Given the description of an element on the screen output the (x, y) to click on. 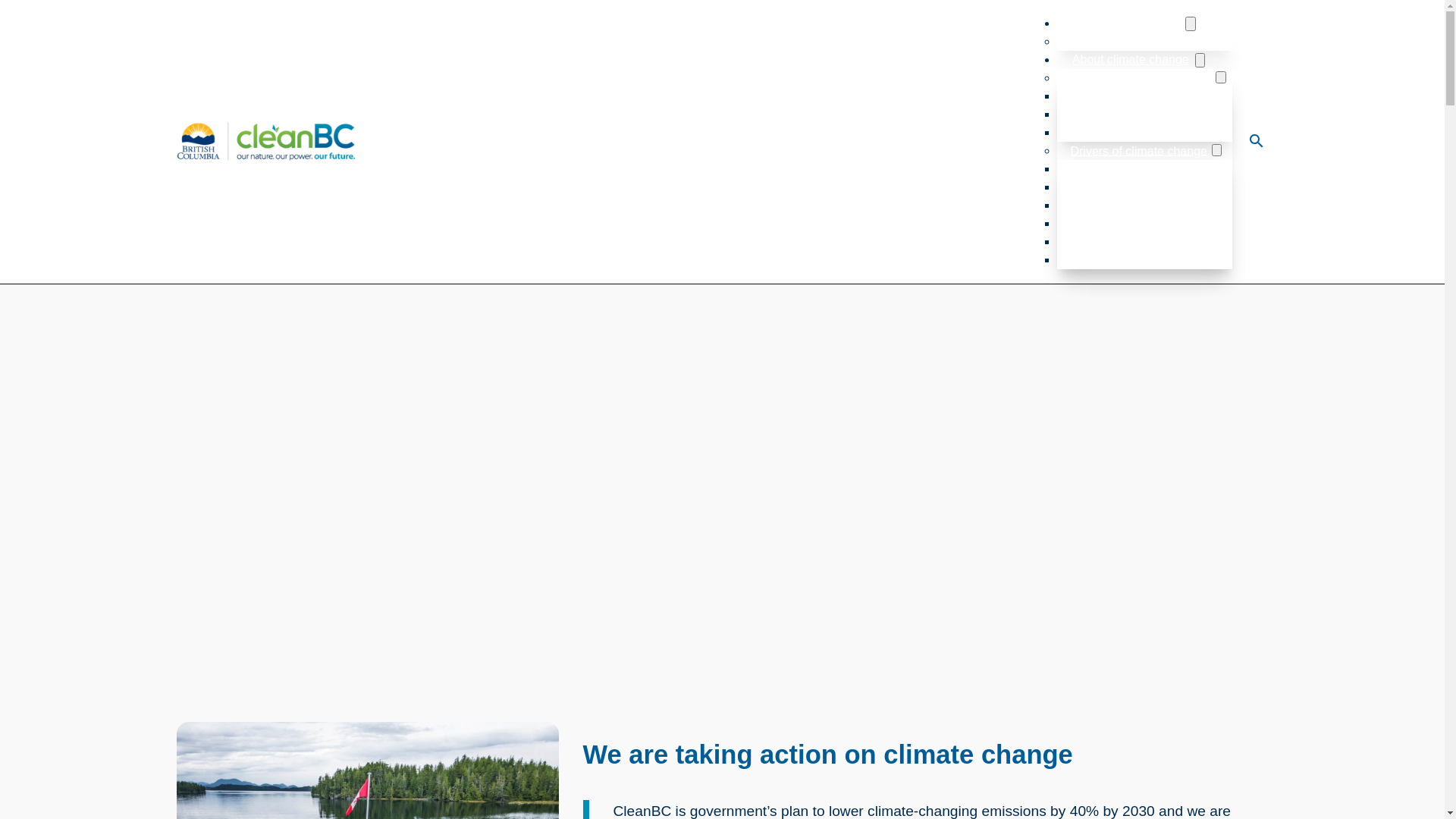
Flooding Element type: text (1092, 114)
Extreme heat Element type: text (1104, 95)
Energy Element type: text (1088, 205)
Buildings Element type: text (1093, 186)
Impacts of climate change Element type: text (1139, 77)
Toggle search Element type: text (1255, 139)
Industry Element type: text (1090, 223)
Climate action stories Element type: text (1126, 41)
About climate change Element type: text (1129, 59)
Agriculture Element type: text (1098, 168)
Waste Element type: text (1085, 259)
Transportation Element type: text (1107, 241)
Wildfires Element type: text (1092, 132)
Drivers of climate change Element type: text (1137, 150)
